Given the description of an element on the screen output the (x, y) to click on. 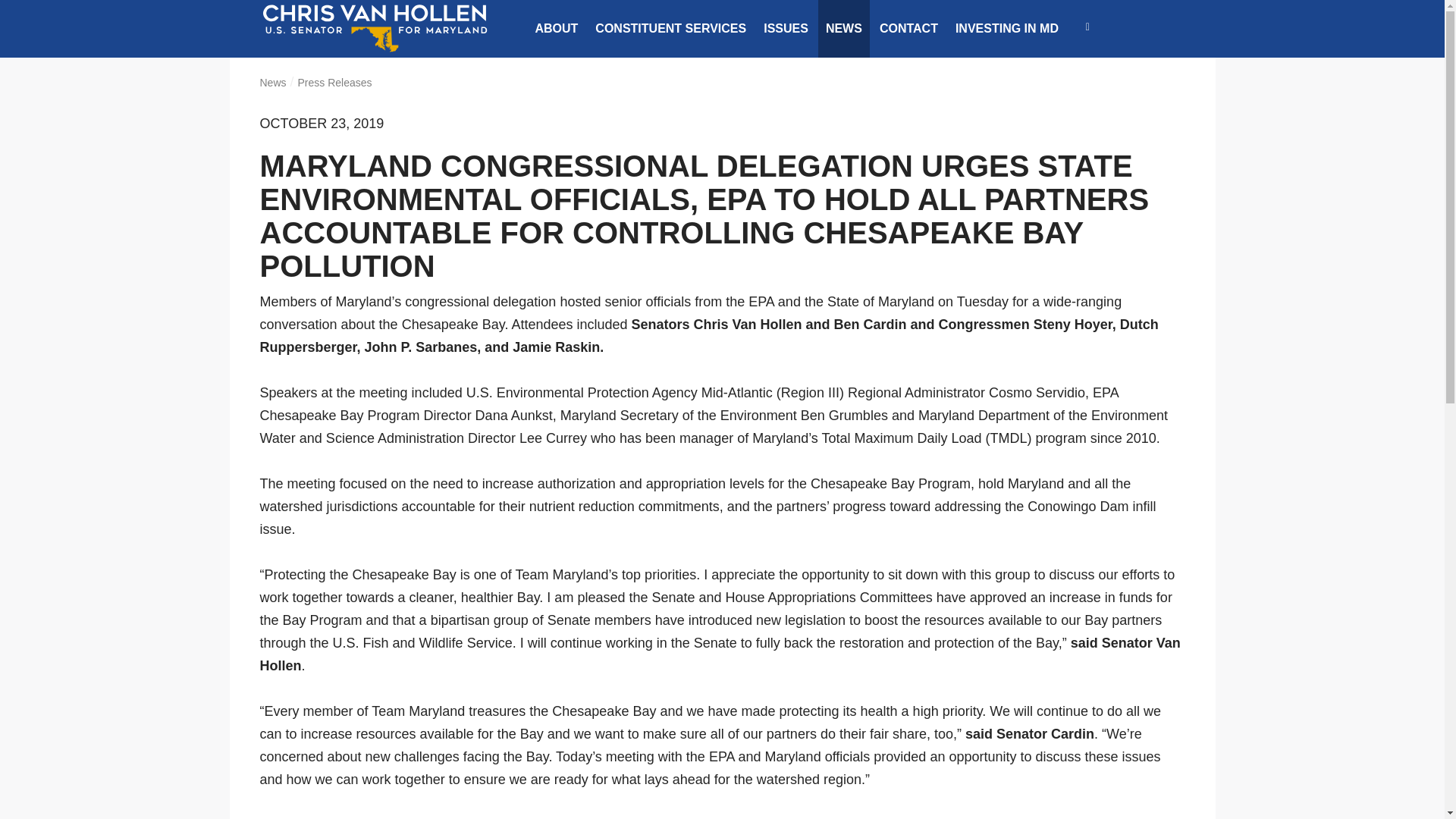
ISSUES (785, 28)
NEWS (843, 28)
ABOUT (556, 28)
CONSTITUENT SERVICES (671, 28)
